Given the description of an element on the screen output the (x, y) to click on. 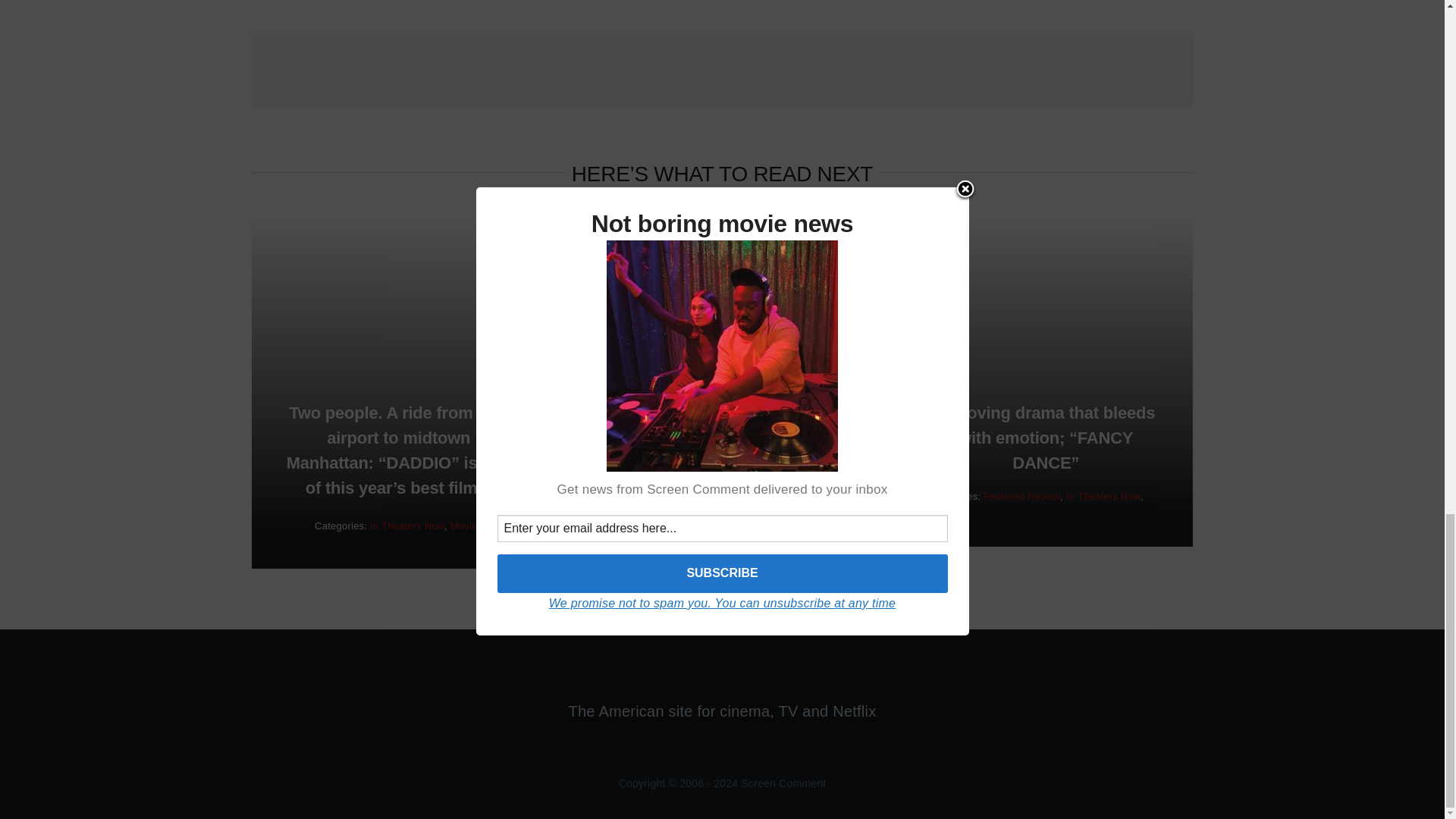
News (748, 500)
Movies (466, 525)
In Theaters Now (406, 525)
Movies (944, 507)
In Theaters Now (1102, 496)
Featured Review (1021, 496)
